Given the description of an element on the screen output the (x, y) to click on. 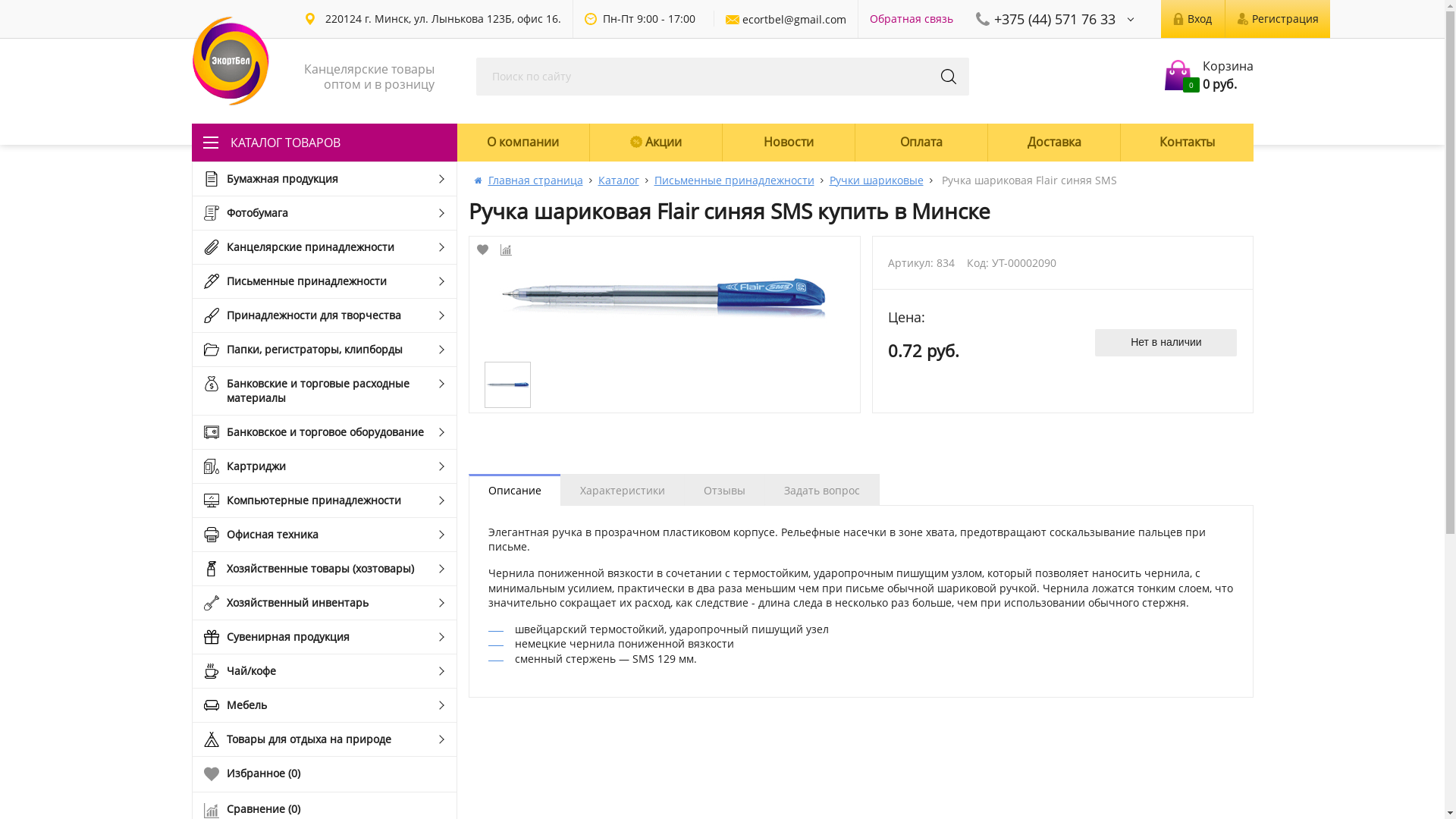
+375 (44) 571 76 33 Element type: text (1046, 18)
ecortbel@gmail.com Element type: text (784, 19)
